Given the description of an element on the screen output the (x, y) to click on. 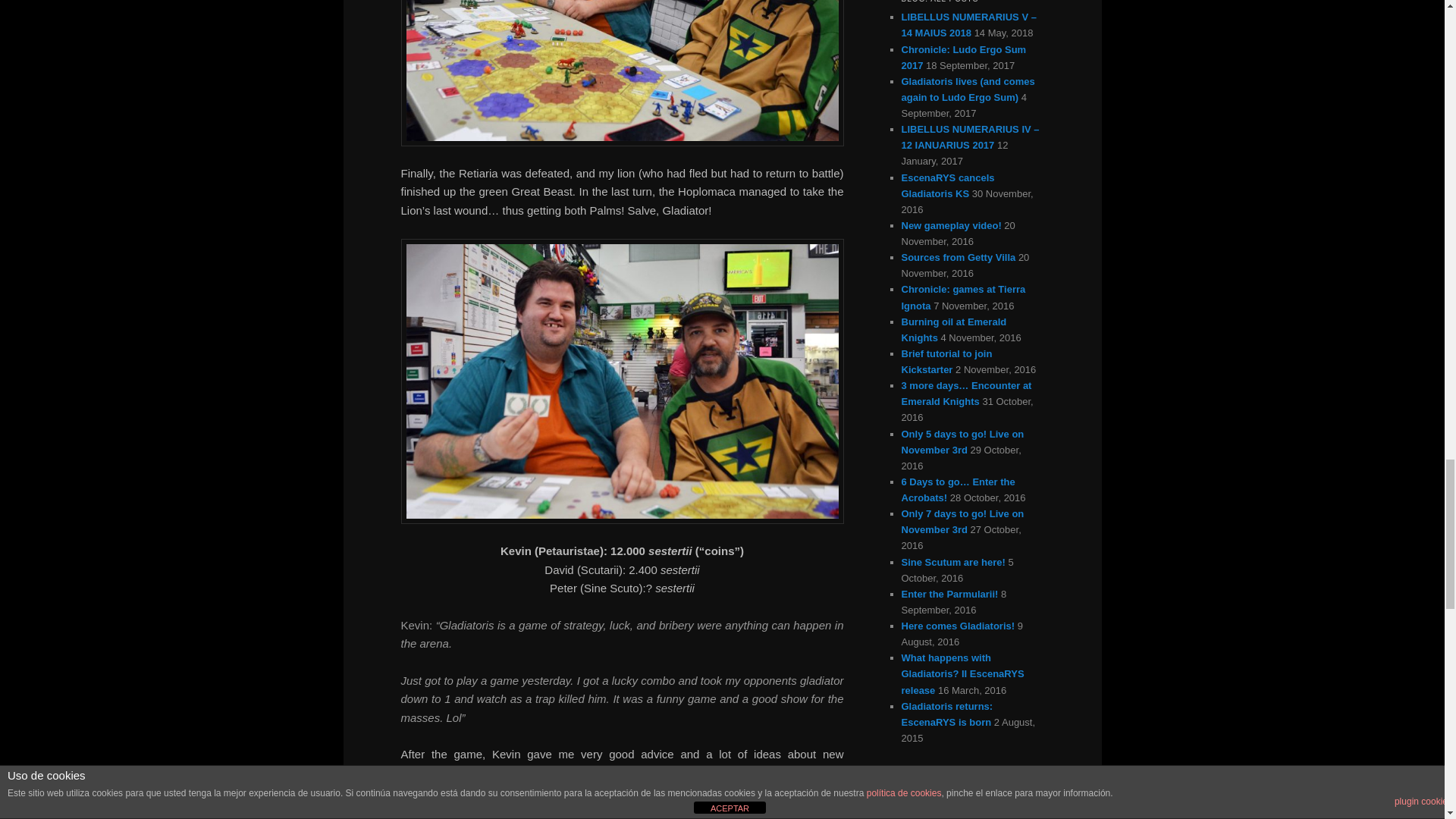
Facebook (415, 809)
Twitter (445, 809)
Facebook (415, 809)
Twitter (445, 809)
